Given the description of an element on the screen output the (x, y) to click on. 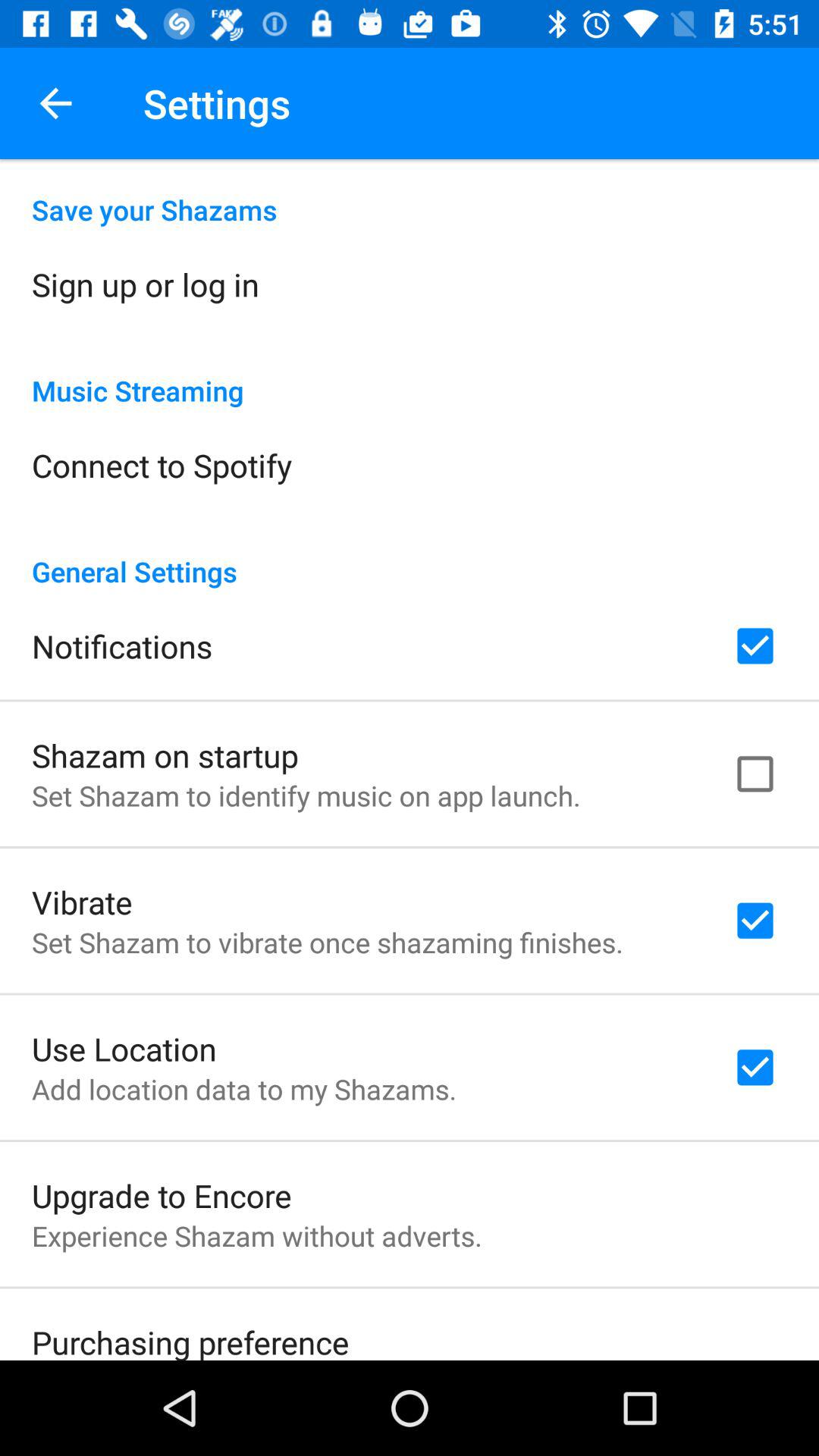
scroll until the upgrade to encore icon (161, 1195)
